Given the description of an element on the screen output the (x, y) to click on. 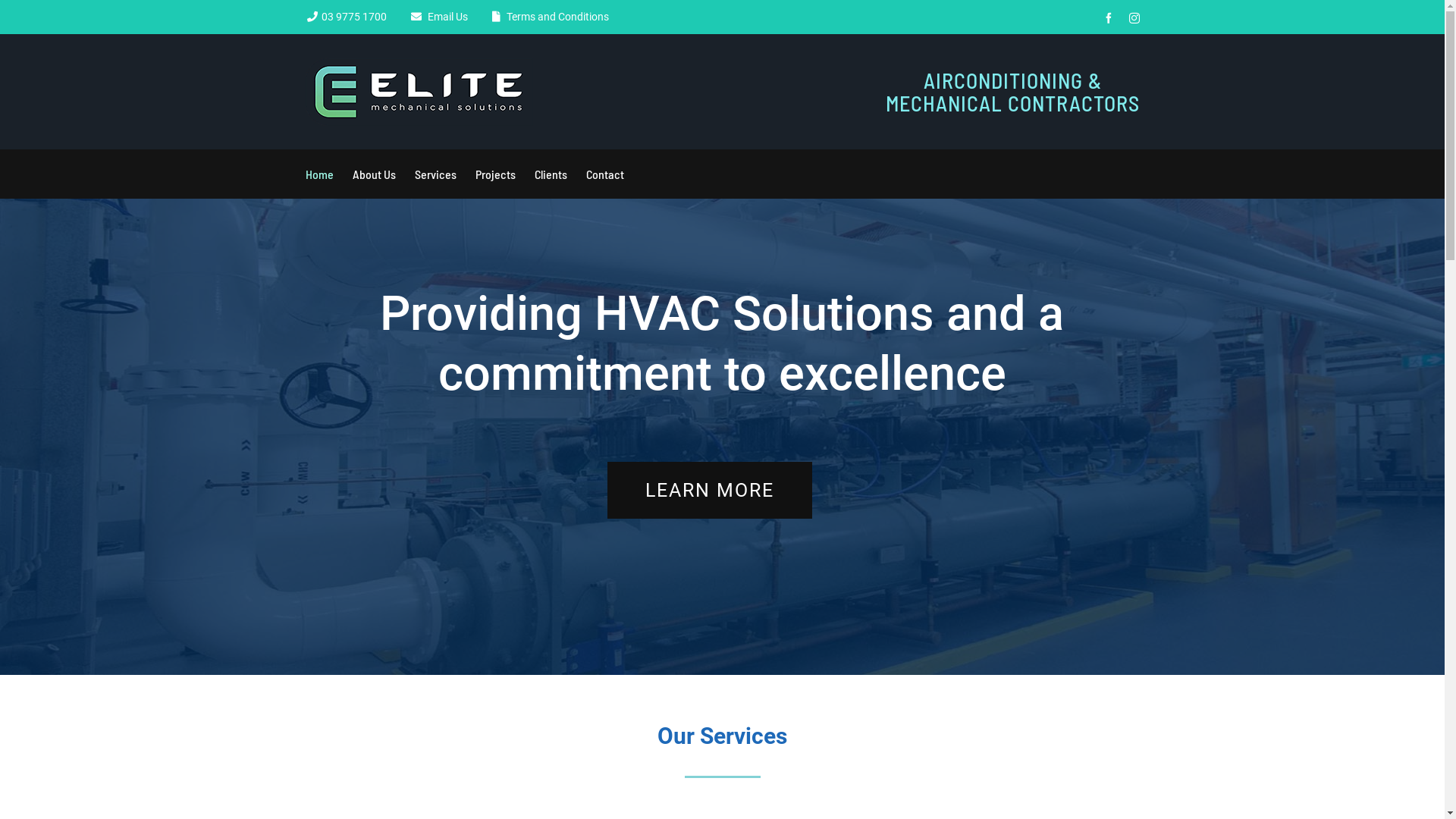
About Us Element type: text (373, 173)
Projects Element type: text (494, 173)
Services Element type: text (434, 173)
  Email Us Element type: text (445, 16)
03 9775 1700 Element type: text (353, 16)
Home Element type: text (318, 173)
  Terms and Conditions Element type: text (555, 16)
Clients Element type: text (549, 173)
Facebook Element type: text (1107, 17)
LEARN MORE Element type: text (709, 489)
Instagram Element type: text (1133, 17)
Contact Element type: text (604, 173)
